Given the description of an element on the screen output the (x, y) to click on. 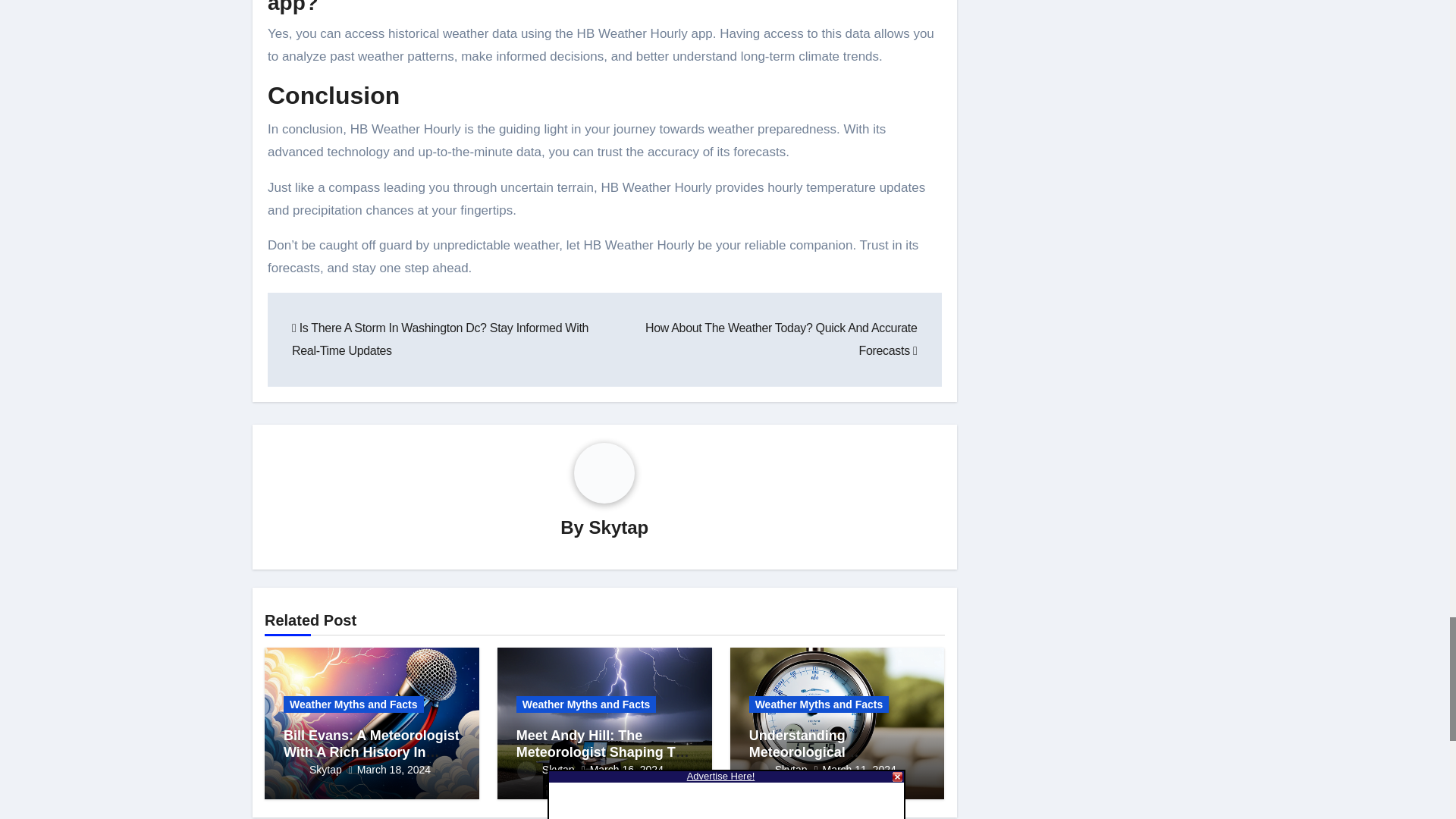
Weather Myths and Facts (353, 704)
Weather Myths and Facts (586, 704)
March 18, 2024 (393, 769)
Skytap (619, 526)
Skytap (545, 769)
Weather Myths and Facts (819, 704)
March 16, 2024 (626, 769)
Skytap (312, 769)
How About The Weather Today? Quick And Accurate Forecasts (781, 339)
